Given the description of an element on the screen output the (x, y) to click on. 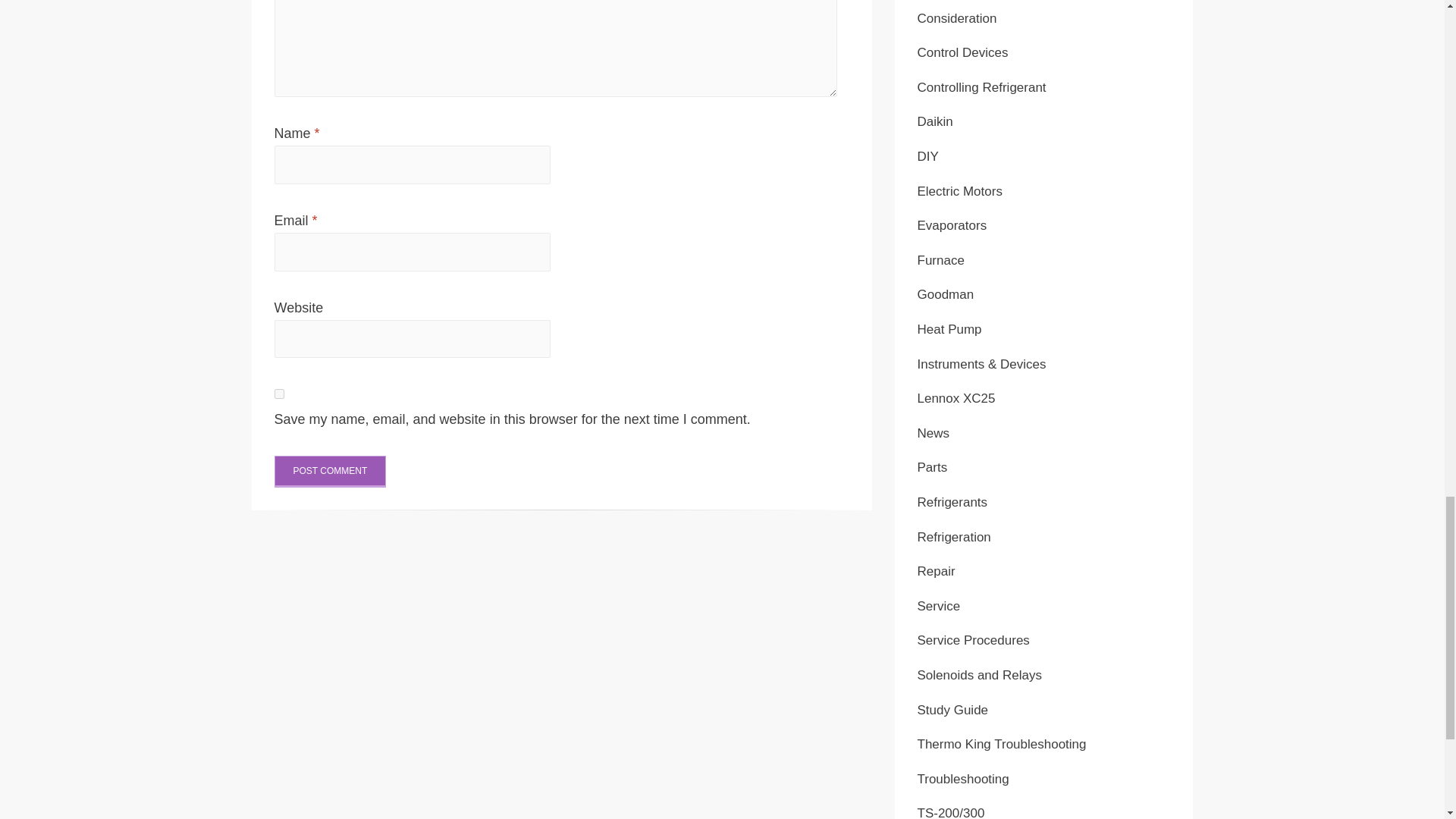
Consideration (957, 18)
Evaporators (952, 225)
Control Devices (963, 52)
Controlling Refrigerant (981, 87)
Electric Motors (960, 191)
Post Comment (331, 471)
Lennox XC25 (956, 398)
Daikin (935, 121)
Goodman (945, 294)
Furnace (940, 260)
Post Comment (331, 471)
DIY (928, 156)
yes (279, 393)
Heat Pump (949, 329)
